Given the description of an element on the screen output the (x, y) to click on. 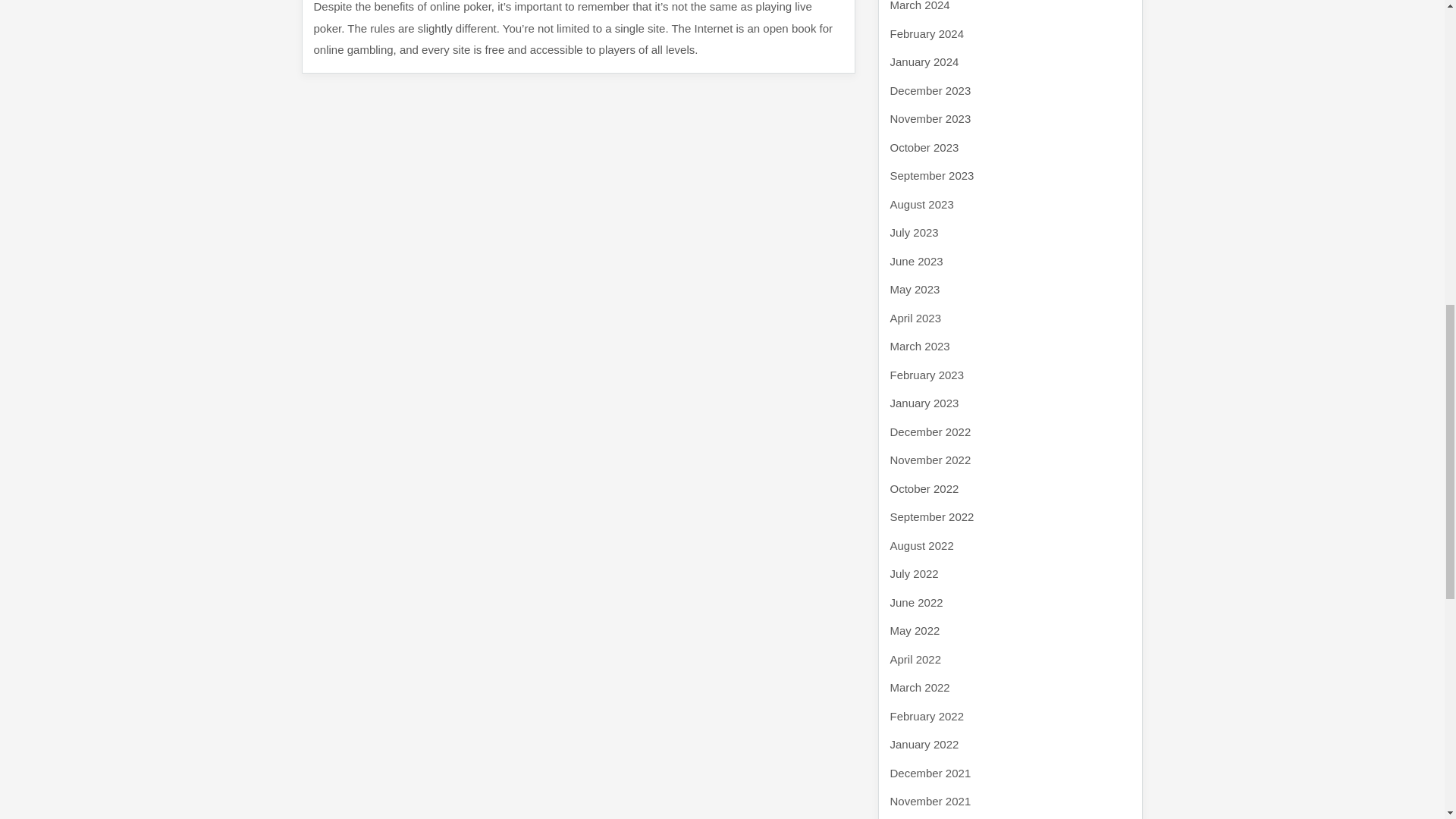
July 2022 (914, 573)
September 2022 (931, 516)
May 2022 (914, 630)
September 2023 (931, 174)
April 2022 (915, 658)
August 2022 (921, 544)
July 2023 (914, 232)
June 2022 (916, 602)
October 2023 (924, 146)
May 2023 (914, 288)
